Given the description of an element on the screen output the (x, y) to click on. 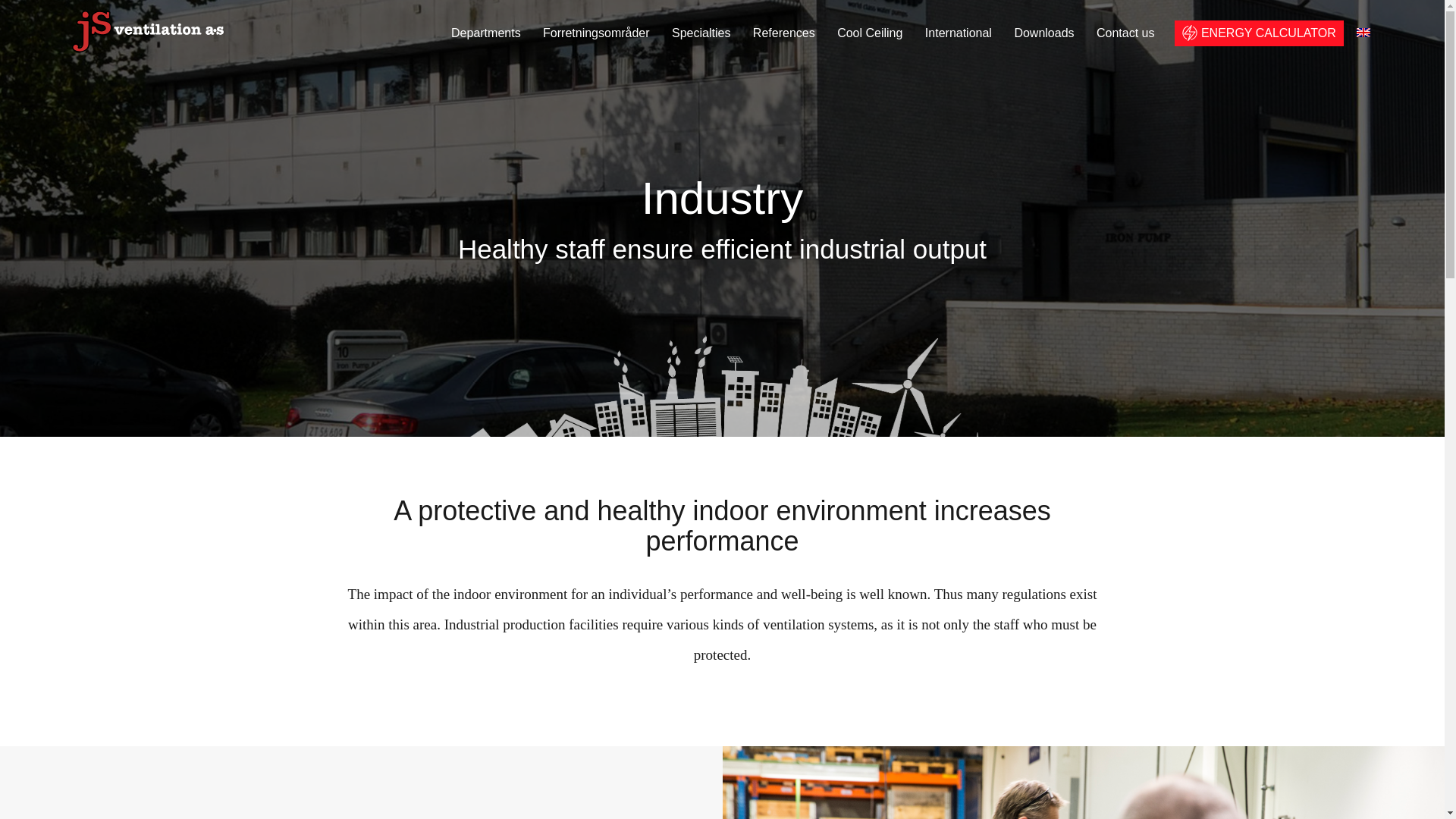
Specialties (700, 32)
Downloads (1043, 32)
References (783, 32)
Departments (486, 32)
Cool Ceiling (869, 32)
International (957, 32)
